Given the description of an element on the screen output the (x, y) to click on. 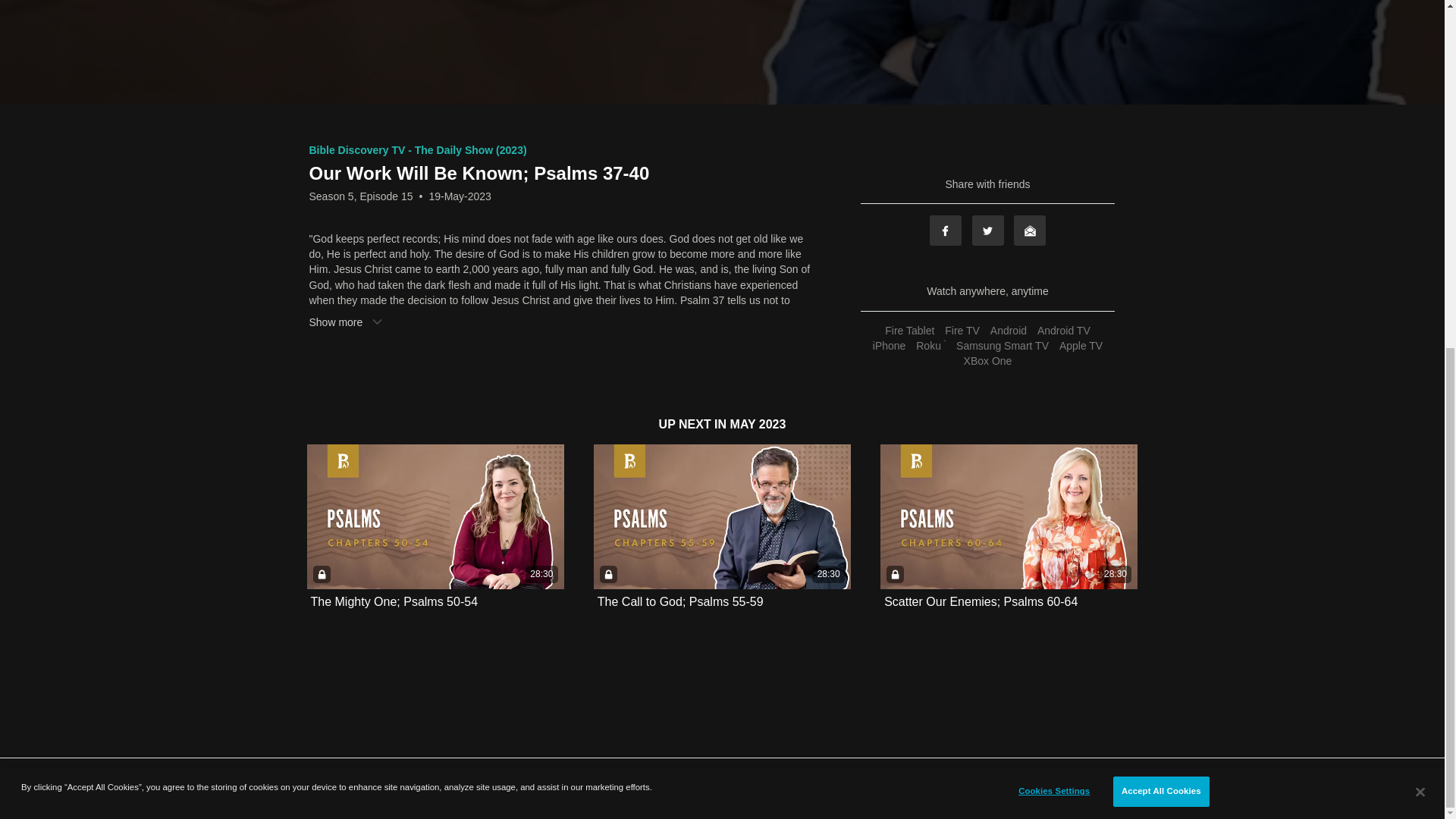
Email (1029, 230)
Facebook (945, 230)
Fire Tablet (908, 330)
Season 5, Episode 15 (360, 196)
The Call to God; Psalms 55-59 (679, 601)
Twitter (988, 230)
19-May-2023 (460, 196)
Scatter Our Enemies; Psalms 60-64 (980, 601)
The Mighty One; Psalms 50-54 (395, 601)
